Given the description of an element on the screen output the (x, y) to click on. 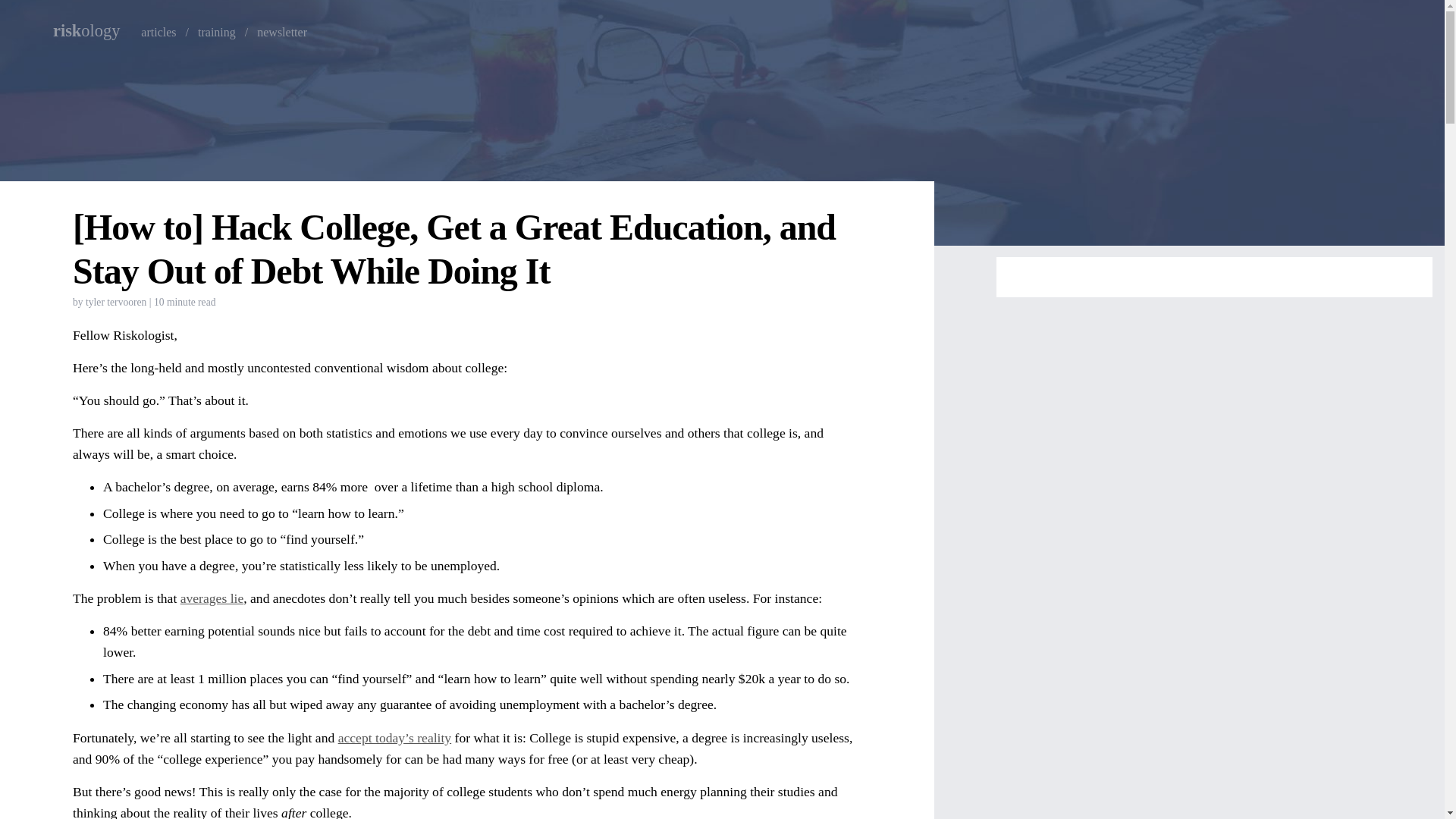
Personal Finance 101: How Averages Lie (212, 598)
training (216, 31)
averages lie (212, 598)
First, Accept Reality (394, 737)
riskology (92, 31)
tyler tervooren (116, 301)
newsletter (282, 31)
View all posts by Tyler Tervooren (116, 301)
articles (158, 31)
